Given the description of an element on the screen output the (x, y) to click on. 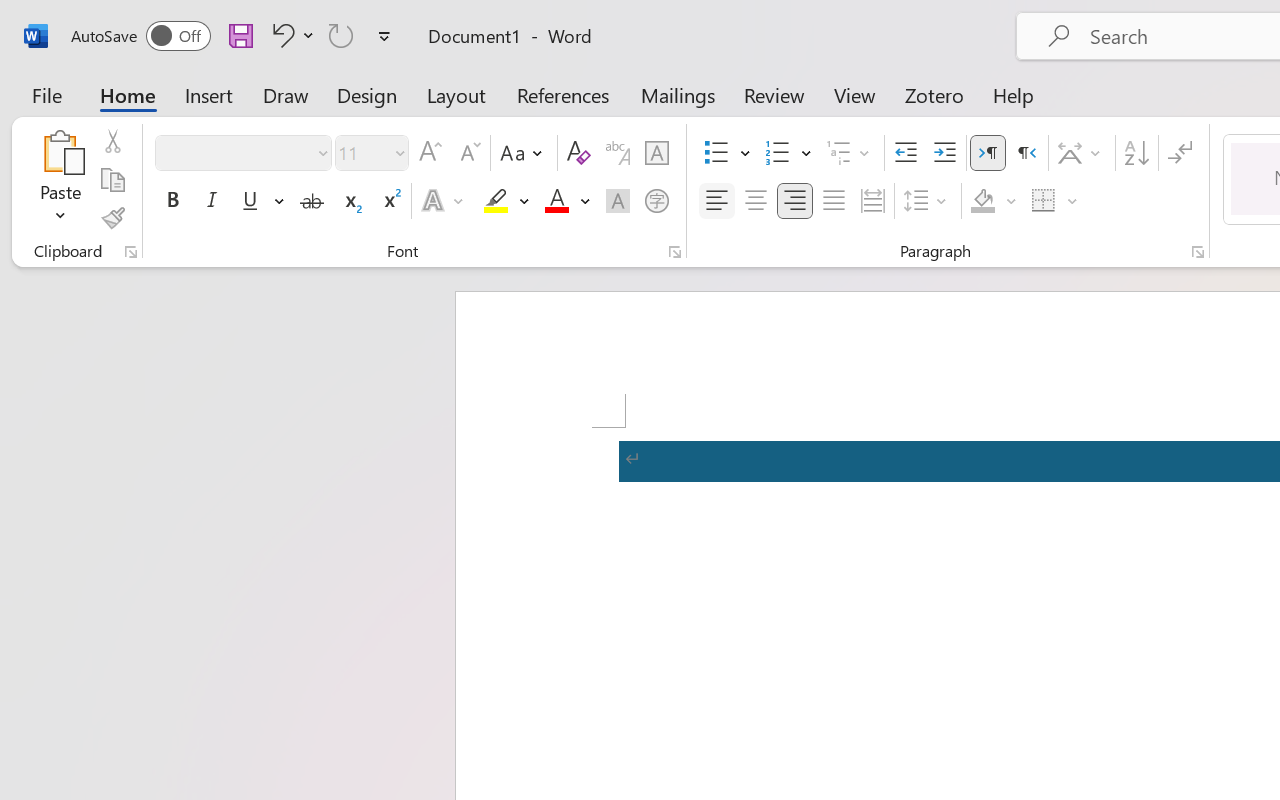
Undo (280, 35)
Text Highlight Color RGB(255, 255, 0) (495, 201)
Left-to-Right (988, 153)
